Given the description of an element on the screen output the (x, y) to click on. 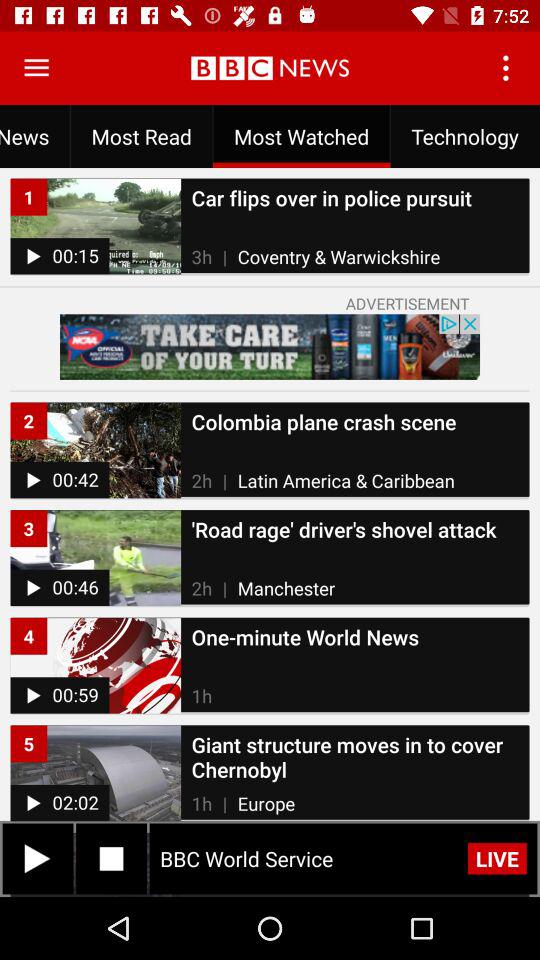
an advertisement (270, 346)
